Given the description of an element on the screen output the (x, y) to click on. 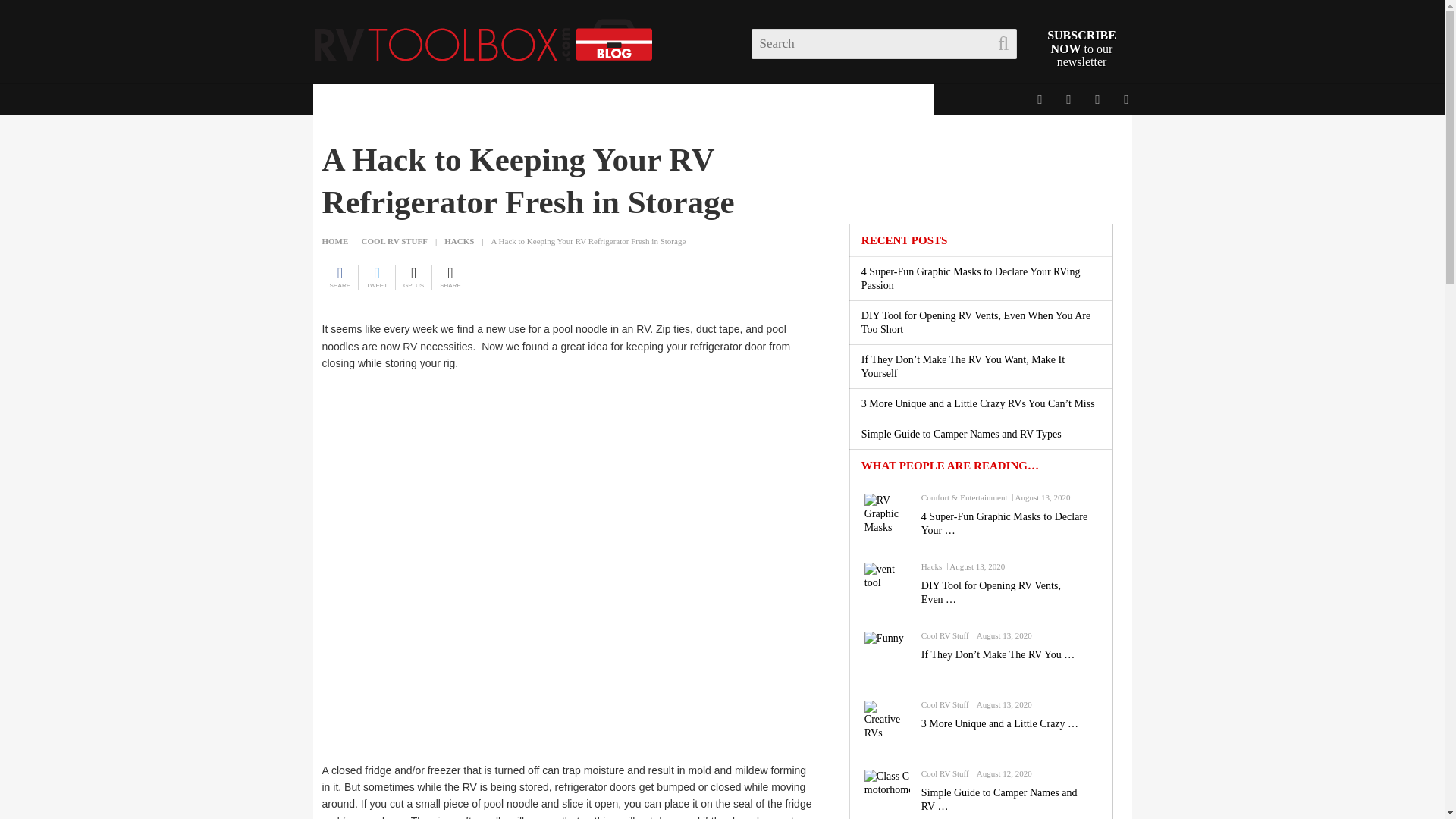
GADGETS (601, 99)
TIPS (674, 99)
DIY Tool for Opening RV Vents, Even When You Are Too Short (1009, 592)
SUBSCRIBE NOW to our newsletter (1081, 47)
DISCOUNT CLUB (372, 99)
VIDEOS (734, 99)
RV GRAPHIC APPAREL (850, 99)
4 Super-Fun Graphic Masks to Declare Your RVing Passion (1009, 523)
COOL RV STUFF (494, 99)
